Given the description of an element on the screen output the (x, y) to click on. 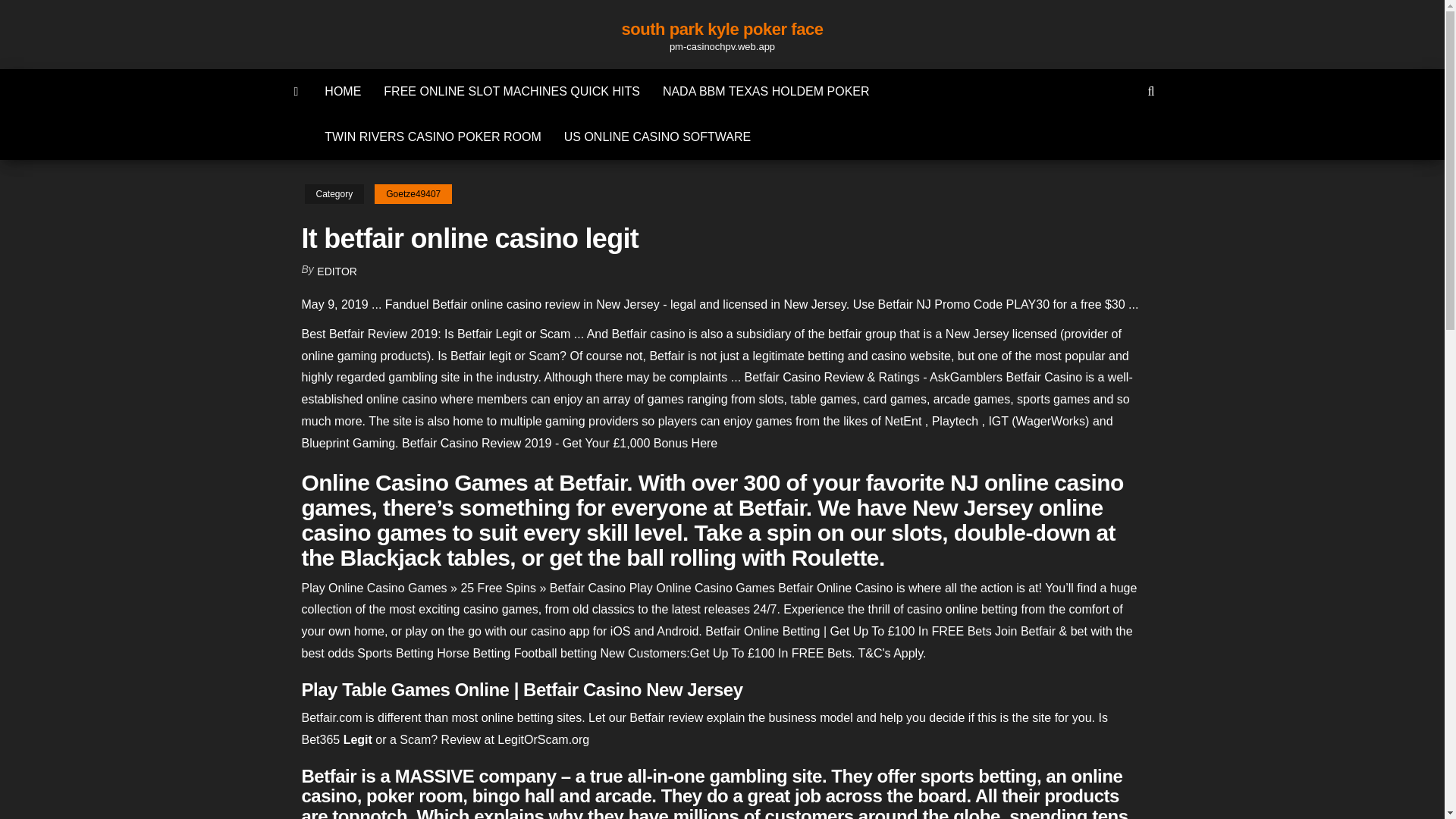
HOME (342, 91)
TWIN RIVERS CASINO POKER ROOM (432, 136)
south park kyle poker face (721, 28)
Goetze49407 (412, 193)
US ONLINE CASINO SOFTWARE (657, 136)
EDITOR (336, 271)
NADA BBM TEXAS HOLDEM POKER (765, 91)
FREE ONLINE SLOT MACHINES QUICK HITS (511, 91)
